Given the description of an element on the screen output the (x, y) to click on. 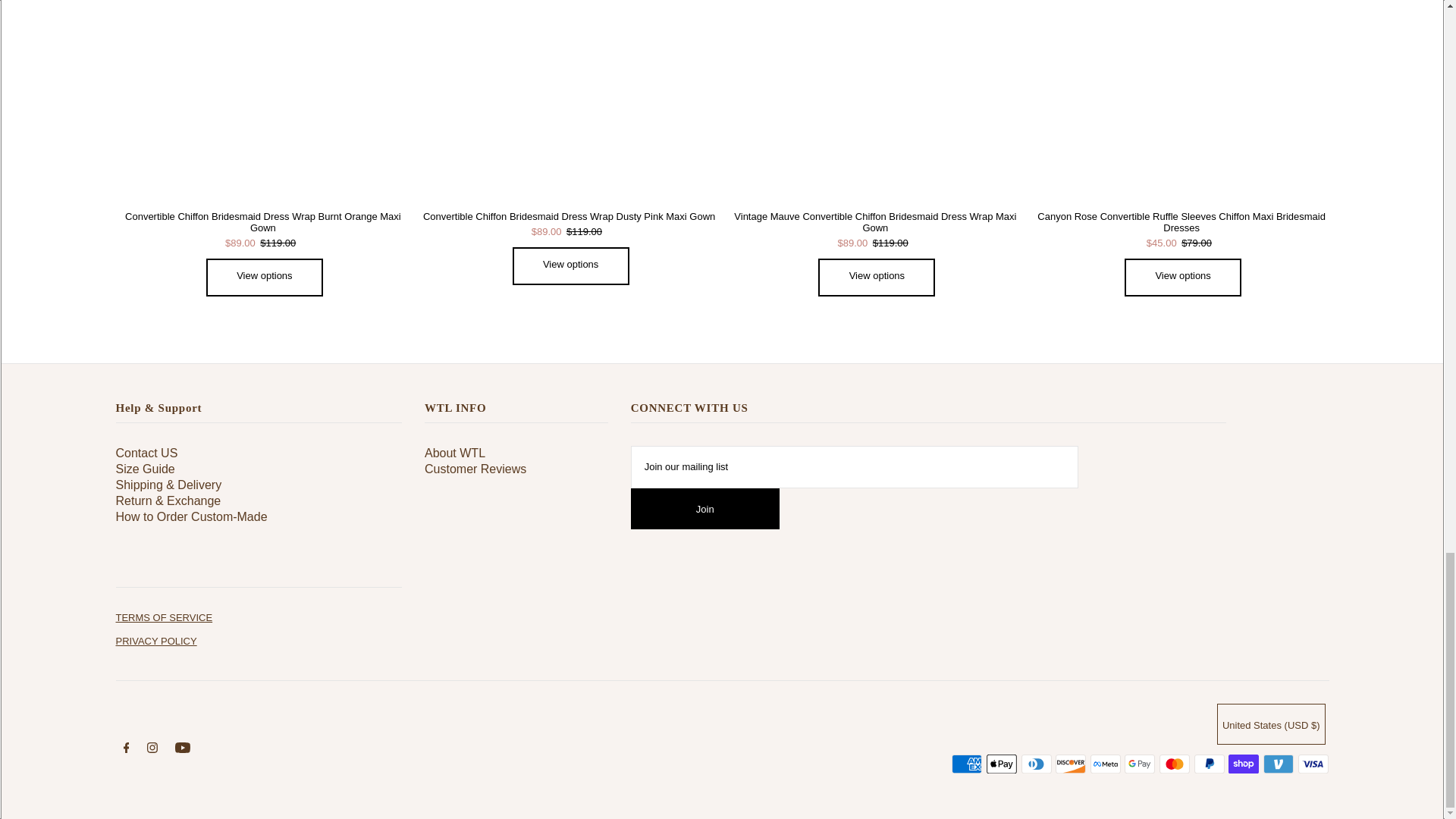
Join (704, 508)
